Given the description of an element on the screen output the (x, y) to click on. 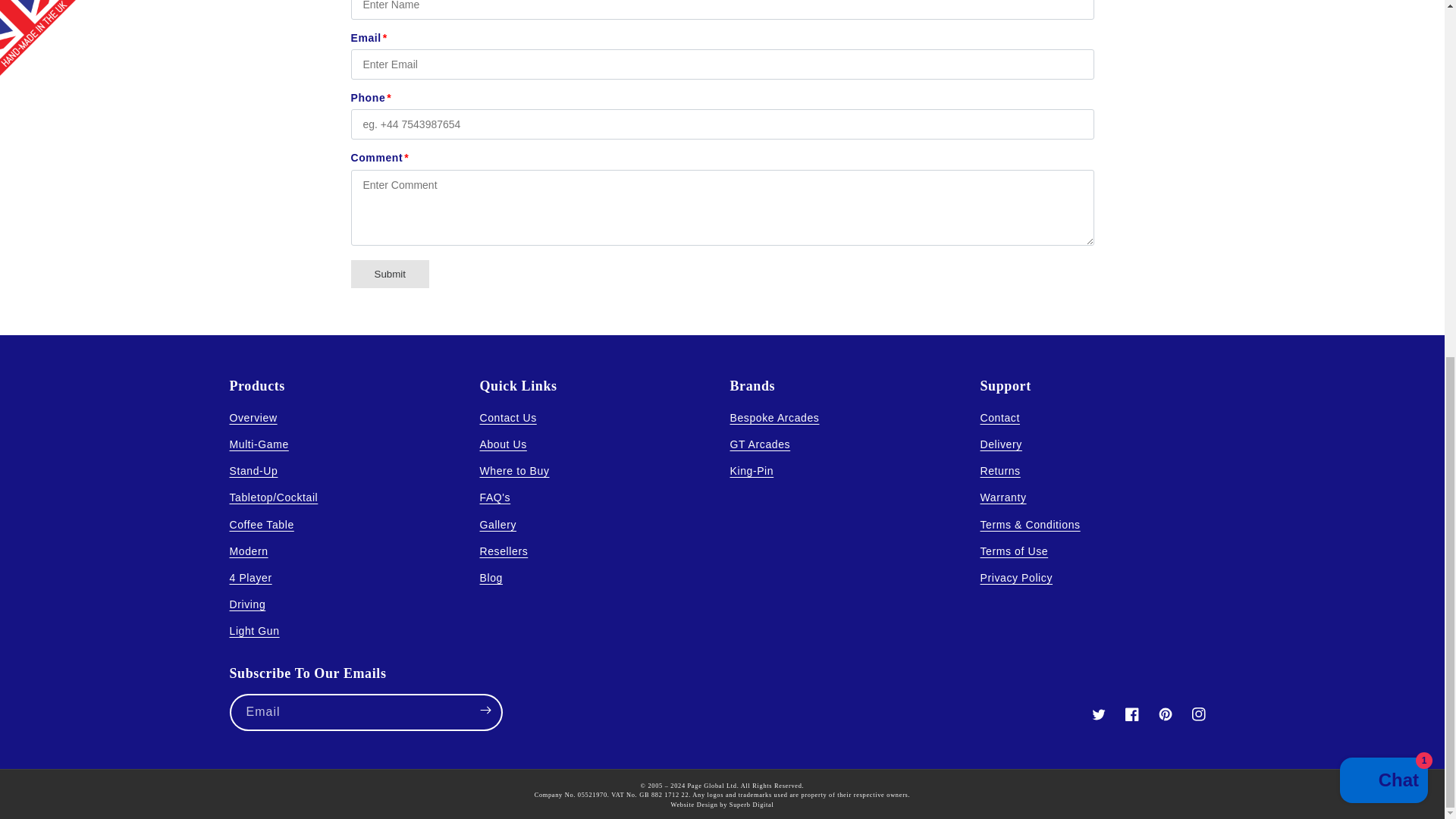
Shopify online store chat (1383, 153)
